Given the description of an element on the screen output the (x, y) to click on. 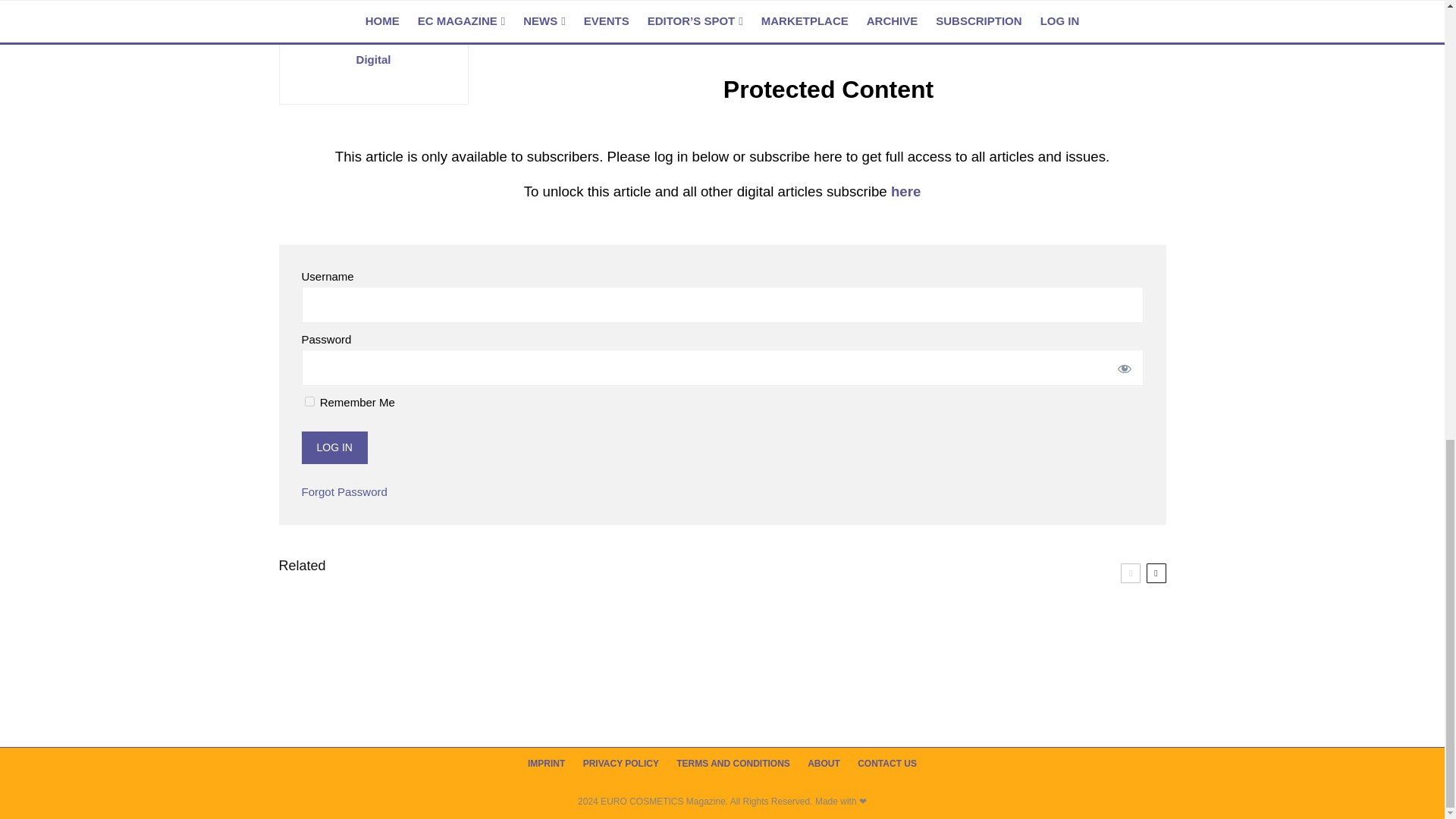
Log In (334, 447)
forever (309, 401)
Print (372, 40)
Digital (373, 59)
